Given the description of an element on the screen output the (x, y) to click on. 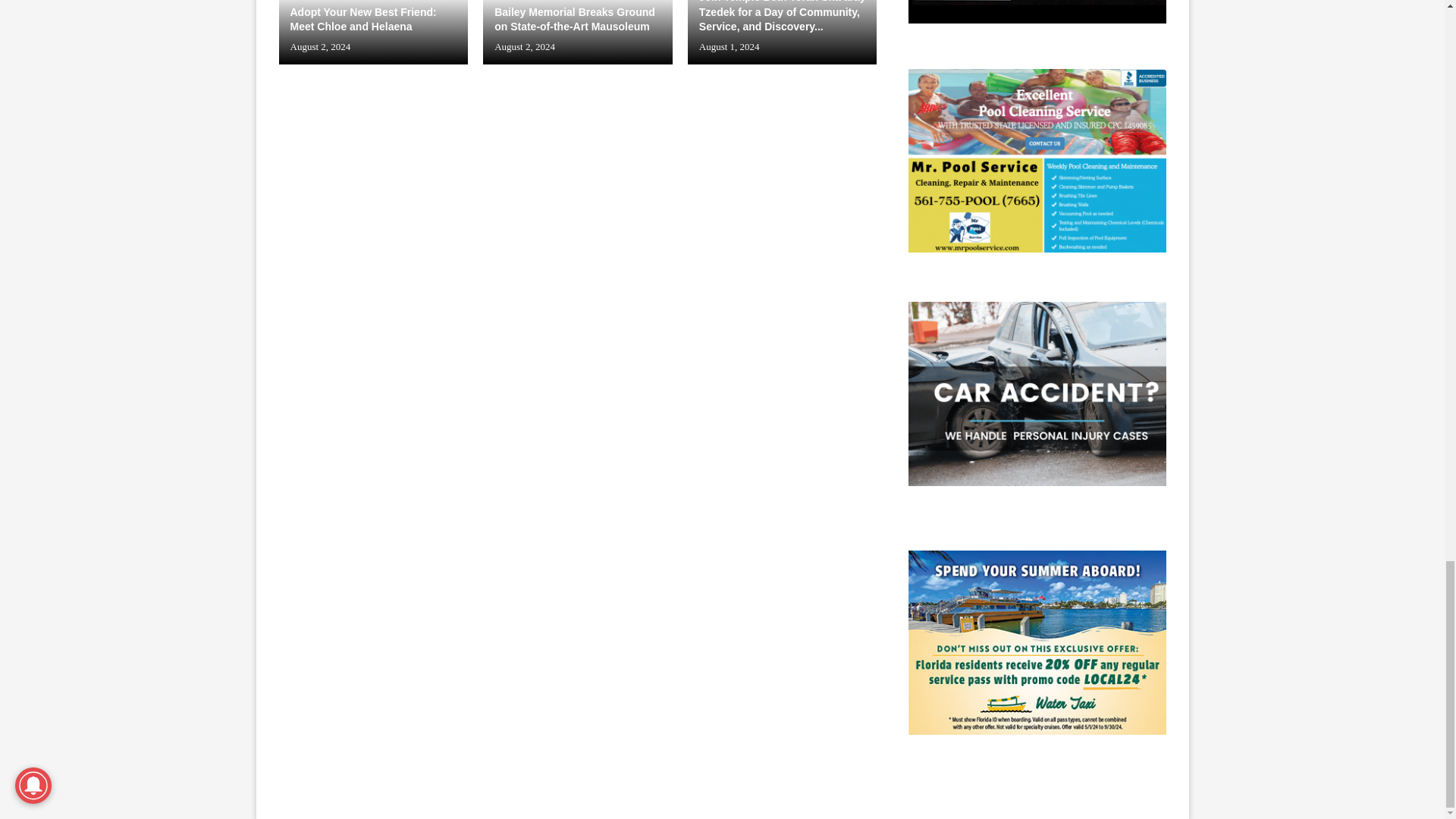
Adopt Your New Best Friend: Meet Chloe and Helaena (373, 32)
Bailey Memorial Breaks Ground on State-of-the-Art Mausoleum (577, 32)
